Given the description of an element on the screen output the (x, y) to click on. 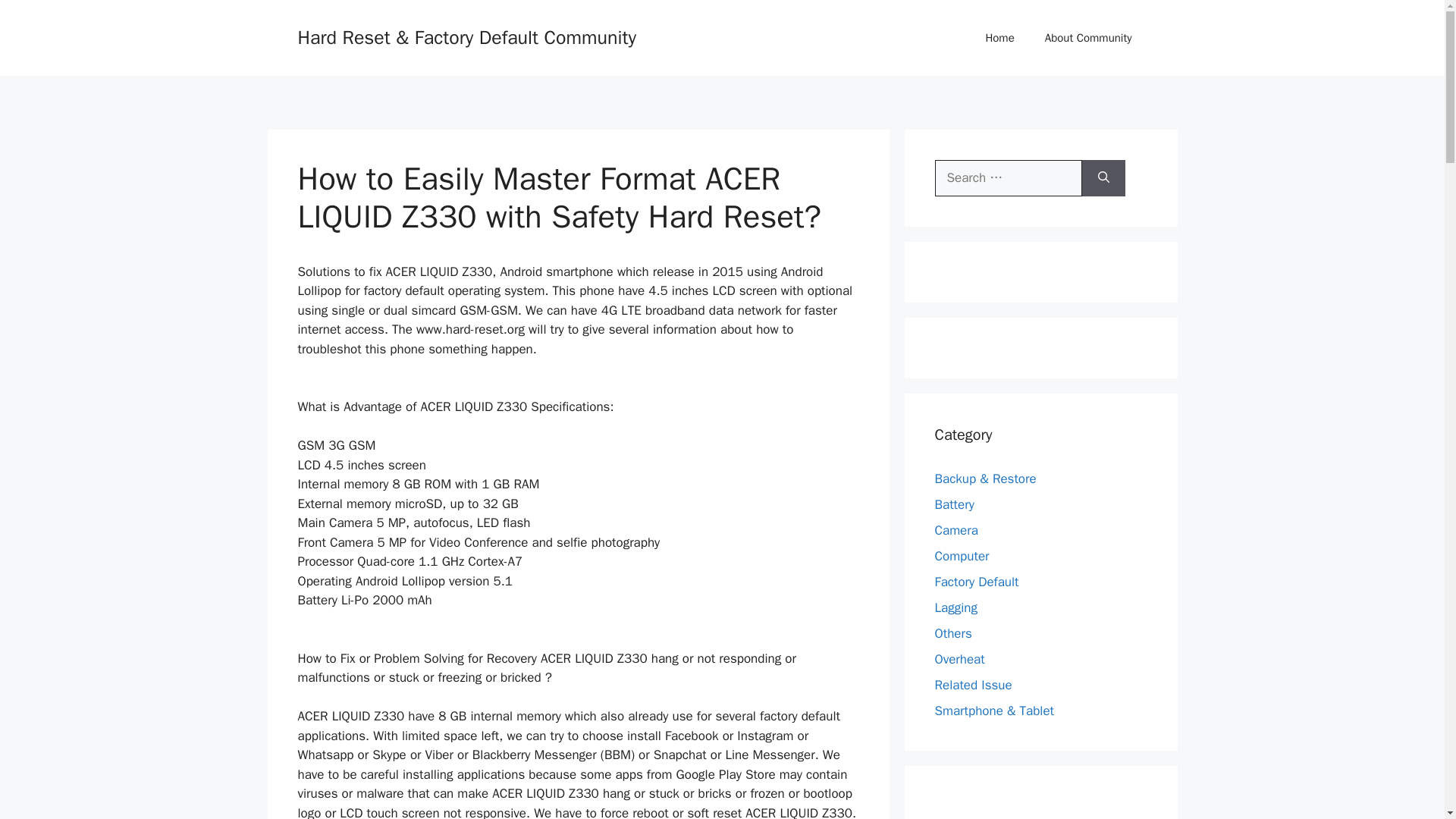
About Community (1088, 37)
Search for: (1007, 177)
Home (999, 37)
Battery (954, 503)
